Given the description of an element on the screen output the (x, y) to click on. 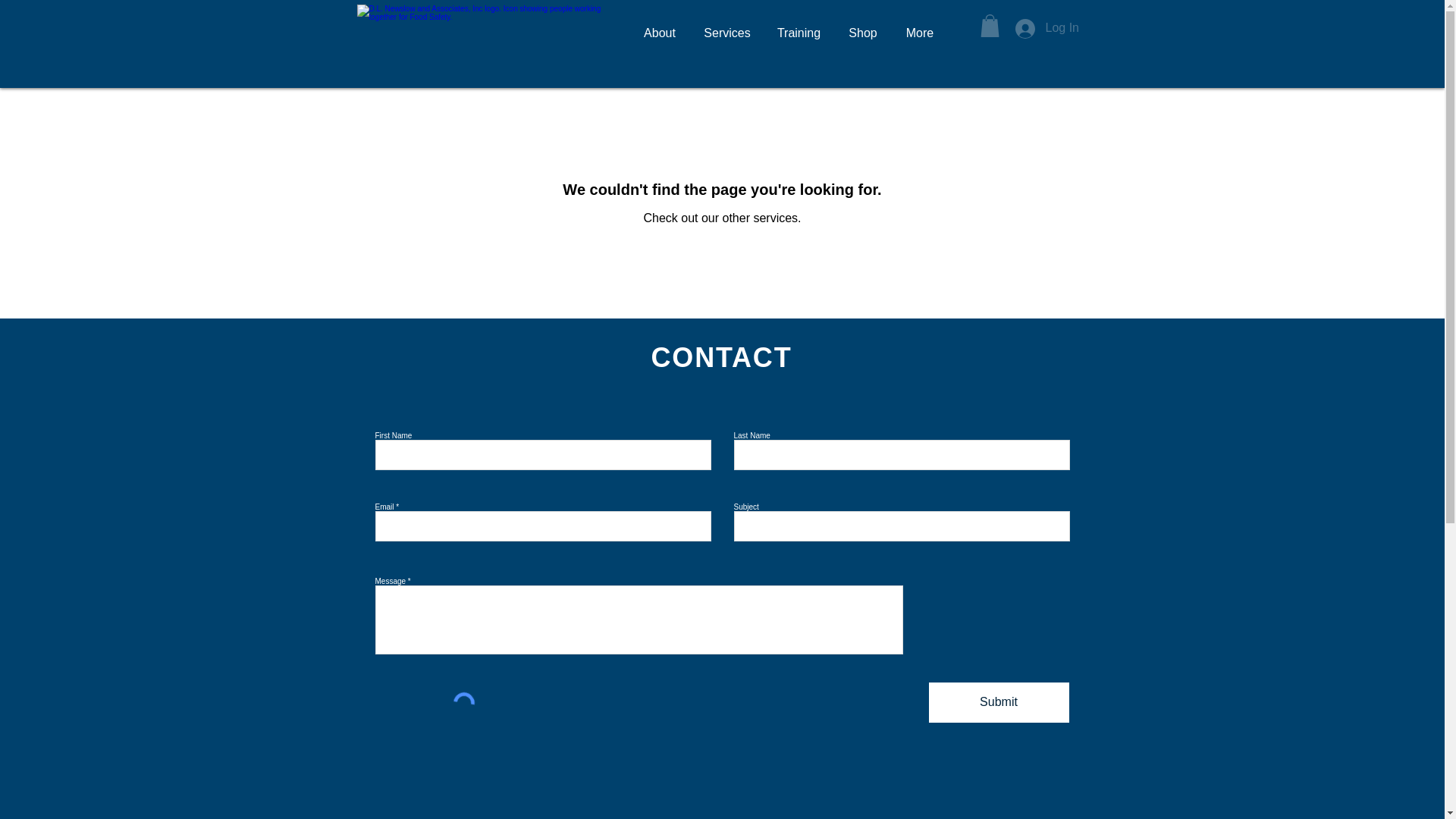
Shop (862, 33)
Log In (1039, 27)
Submit (998, 702)
About (658, 33)
Training (798, 33)
Services (726, 33)
